Given the description of an element on the screen output the (x, y) to click on. 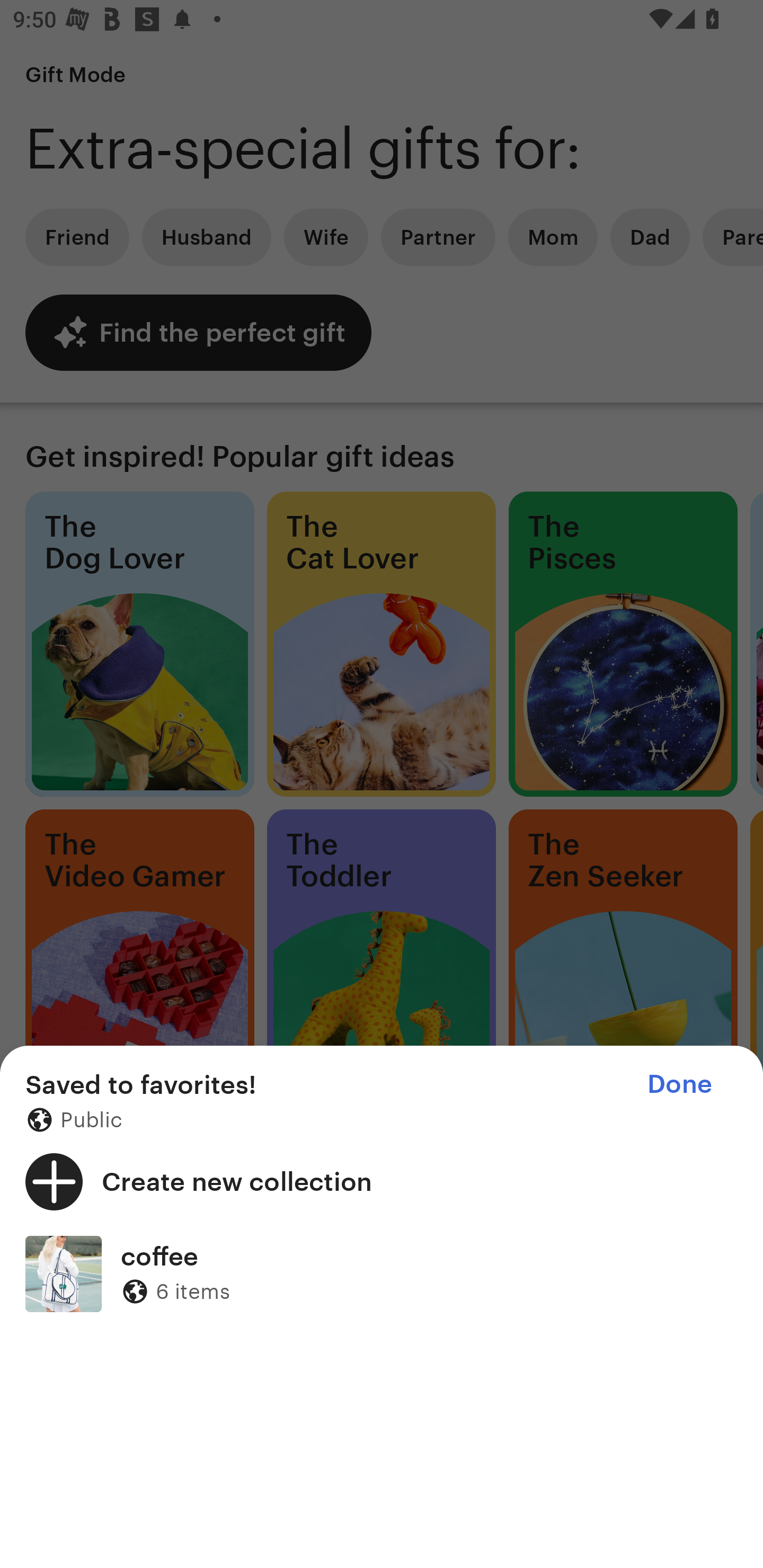
Done (679, 1083)
Create new collection (381, 1181)
coffee 6 items (381, 1273)
